Given the description of an element on the screen output the (x, y) to click on. 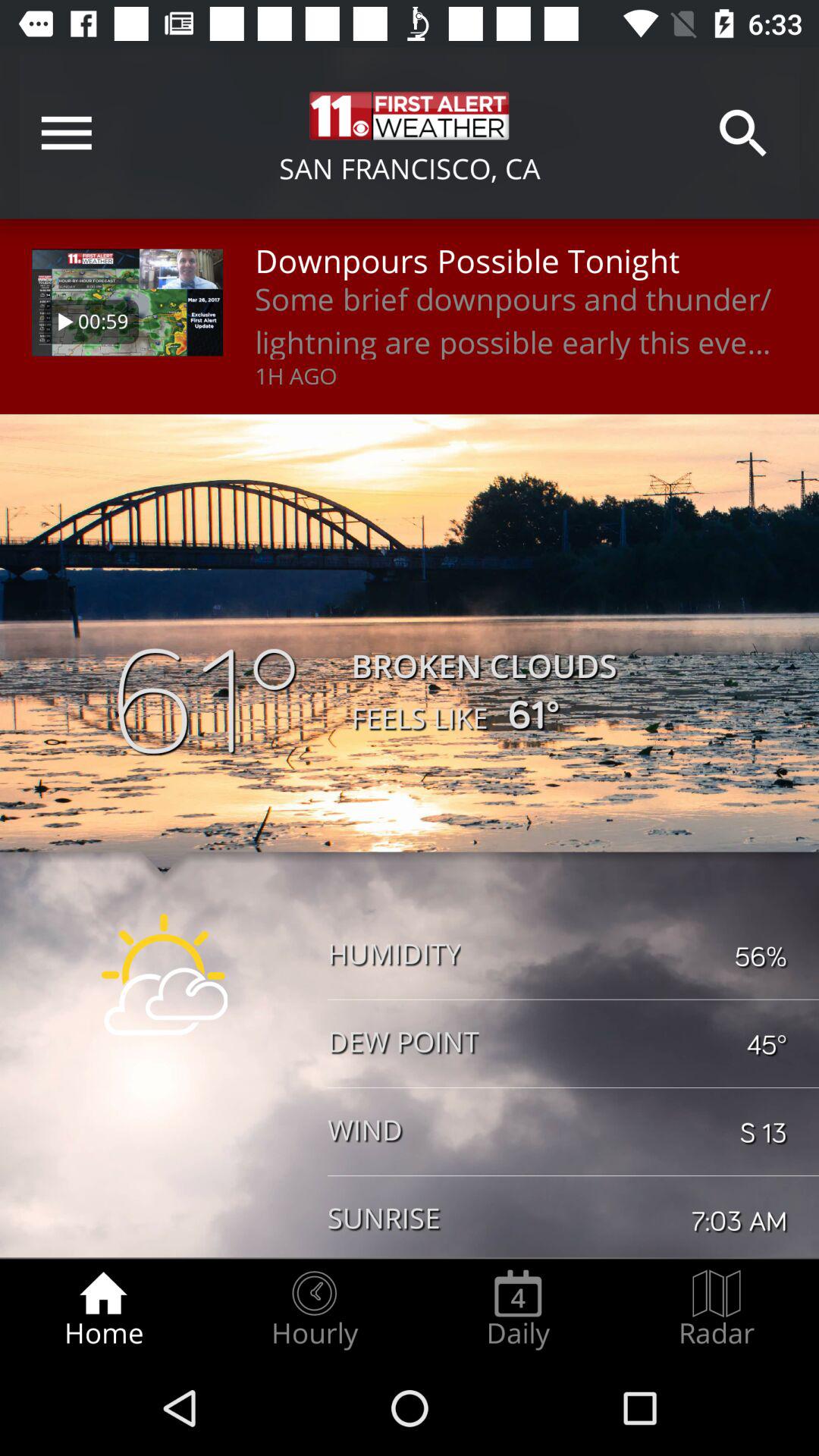
swipe to the daily radio button (518, 1309)
